Given the description of an element on the screen output the (x, y) to click on. 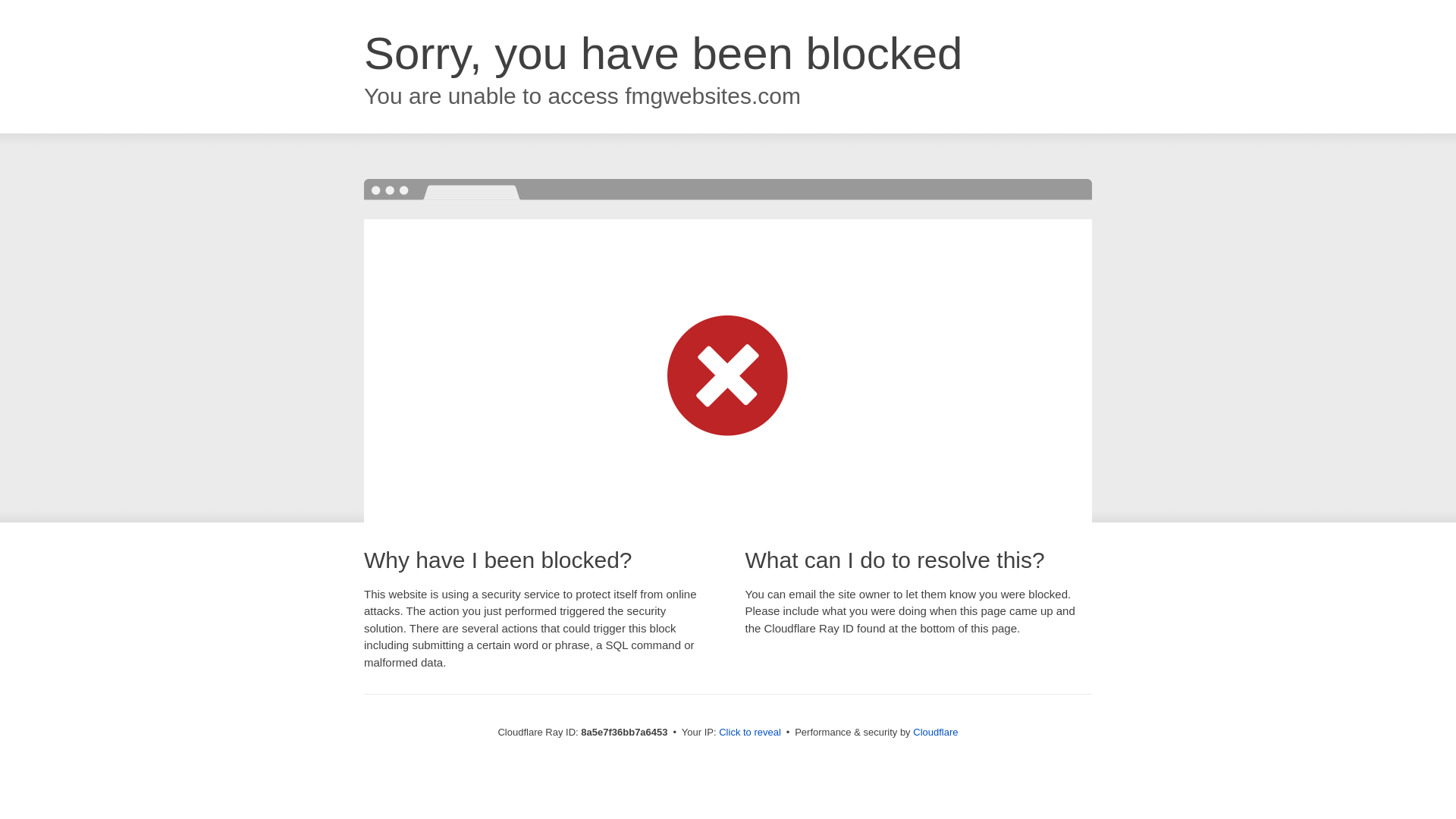
Click to reveal (749, 732)
Cloudflare (935, 731)
